Given the description of an element on the screen output the (x, y) to click on. 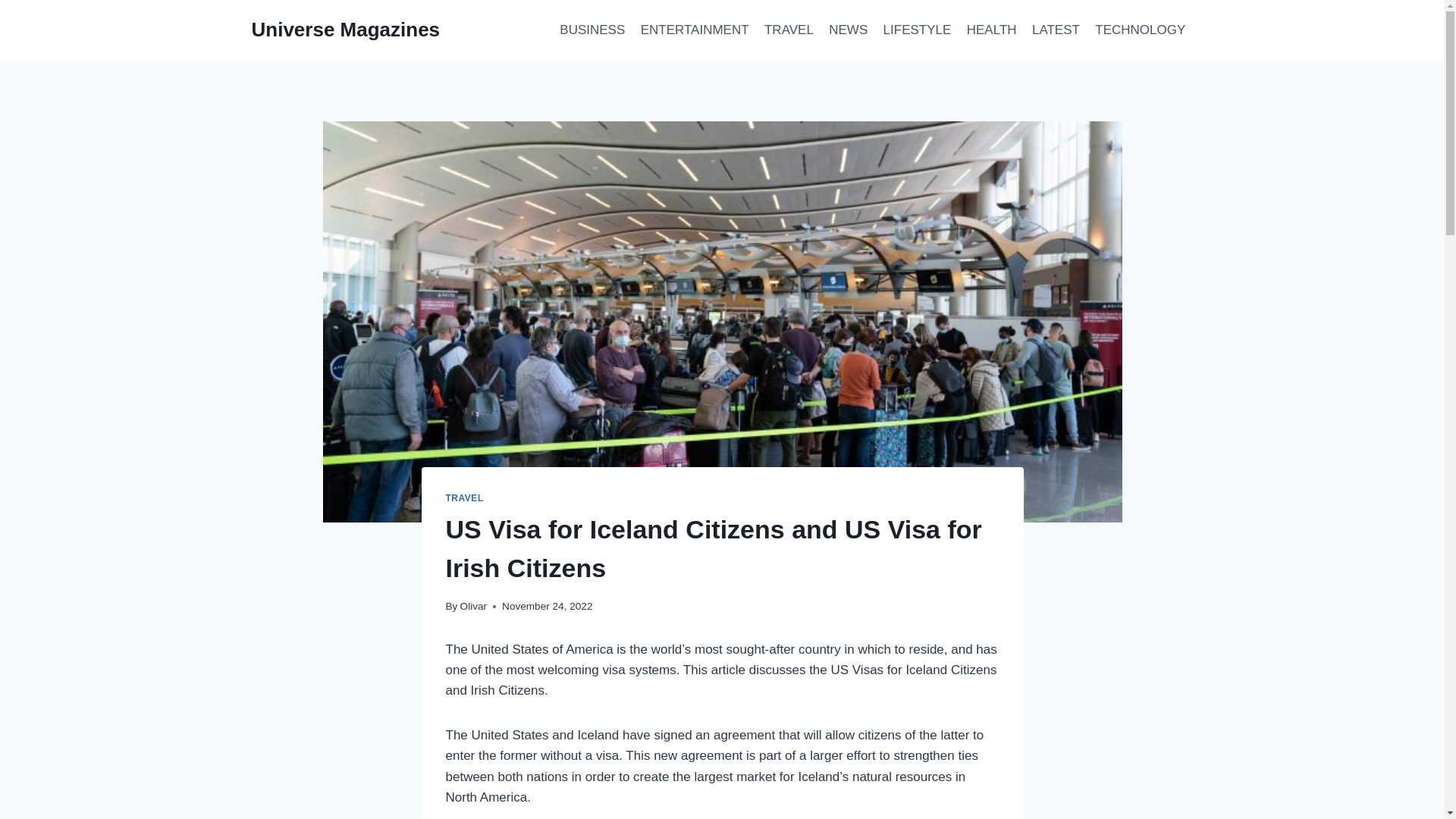
LIFESTYLE (916, 30)
BUSINESS (591, 30)
TECHNOLOGY (1139, 30)
HEALTH (992, 30)
LATEST (1056, 30)
Olivar (473, 605)
TRAVEL (464, 498)
TRAVEL (789, 30)
NEWS (848, 30)
Universe Magazines (346, 29)
ENTERTAINMENT (693, 30)
